Given the description of an element on the screen output the (x, y) to click on. 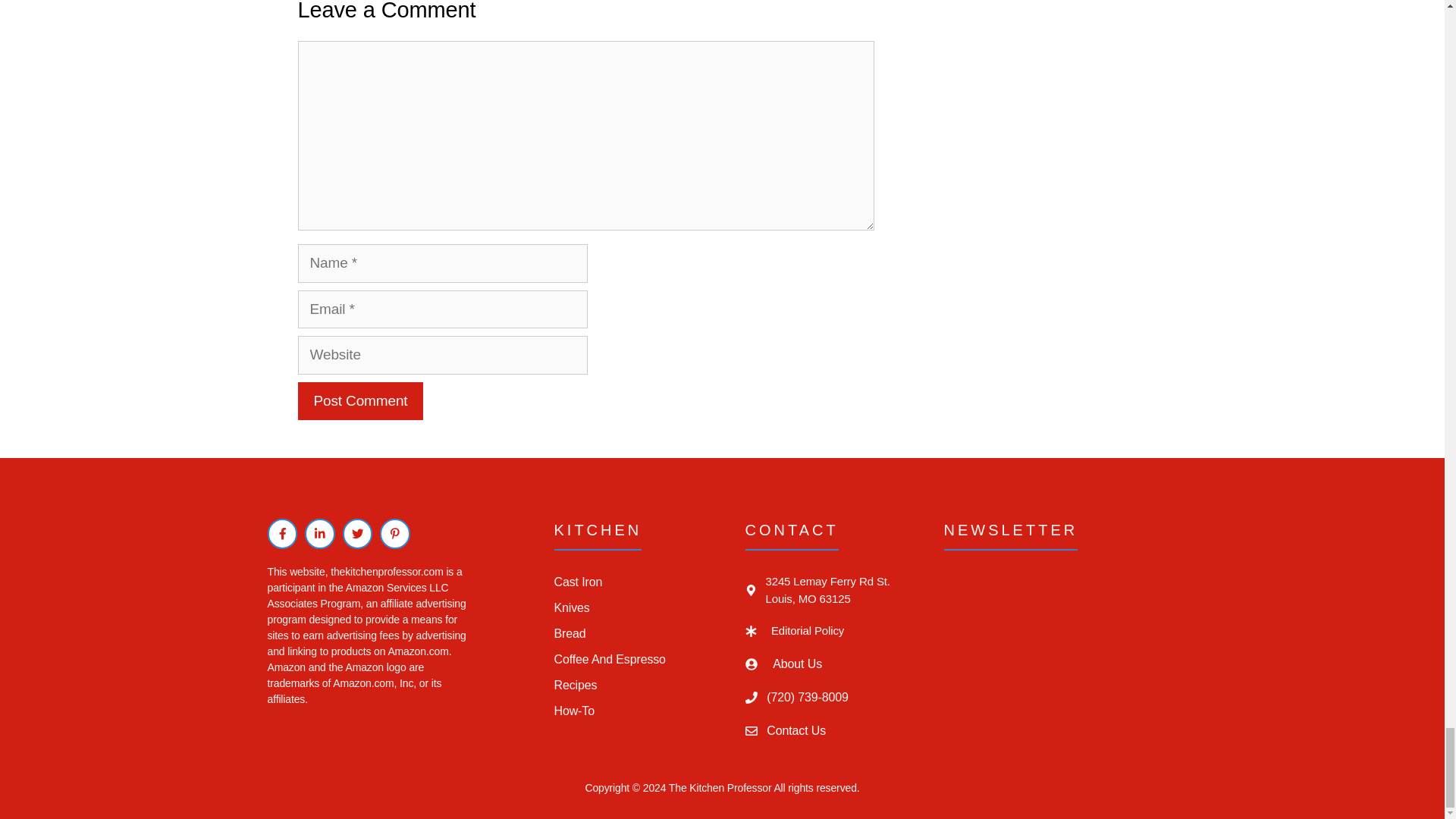
Post Comment (360, 401)
